Given the description of an element on the screen output the (x, y) to click on. 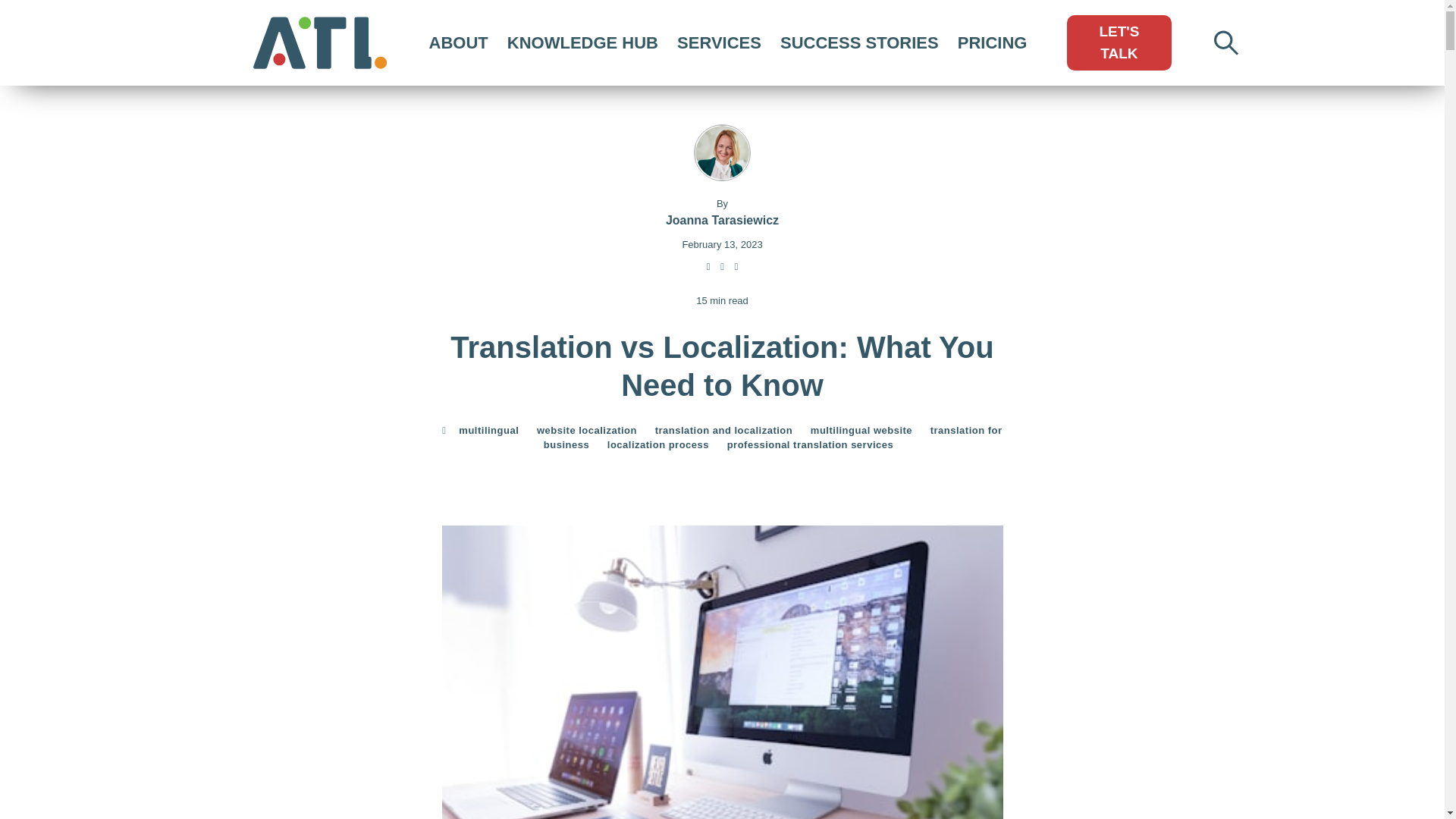
PRICING (992, 42)
KNOWLEDGE HUB (582, 42)
LET'S TALK (1118, 42)
SERVICES (718, 42)
SUCCESS STORIES (859, 42)
ABOUT (459, 42)
